Given the description of an element on the screen output the (x, y) to click on. 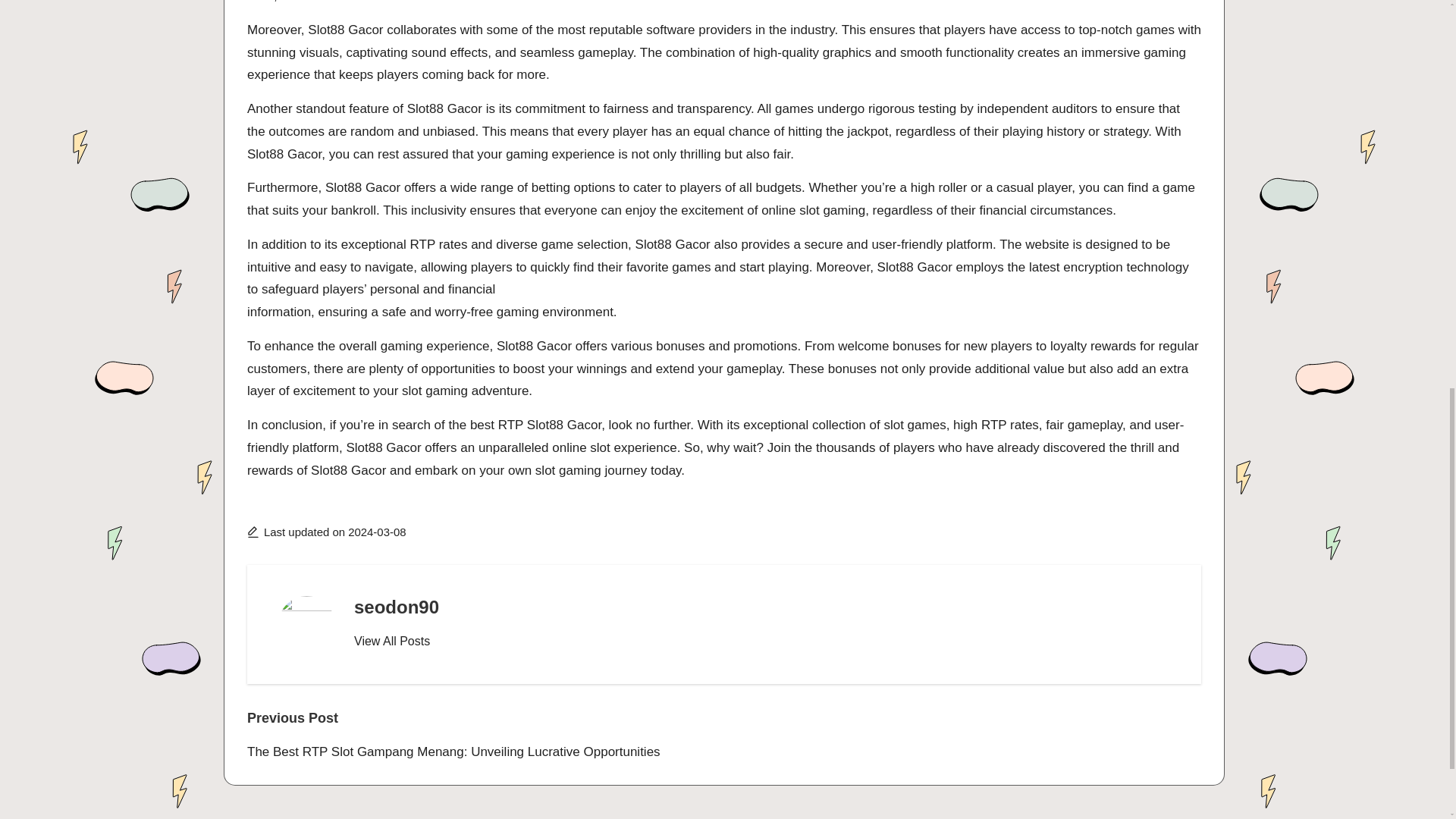
seodon90 (396, 607)
View All Posts (391, 641)
